Given the description of an element on the screen output the (x, y) to click on. 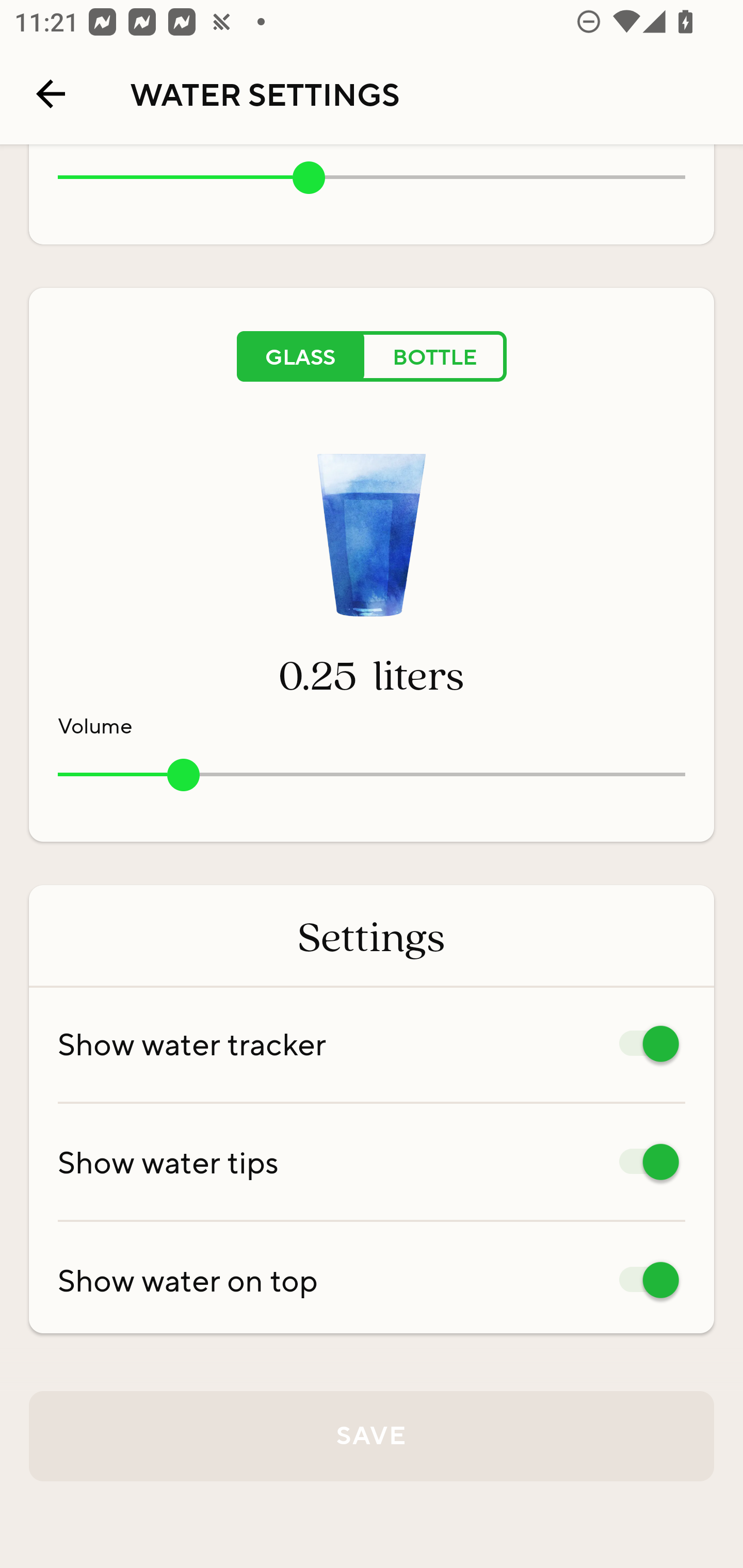
Navigate up (50, 93)
GLASS (300, 355)
BOTTLE (435, 355)
SAVE (371, 1435)
